Given the description of an element on the screen output the (x, y) to click on. 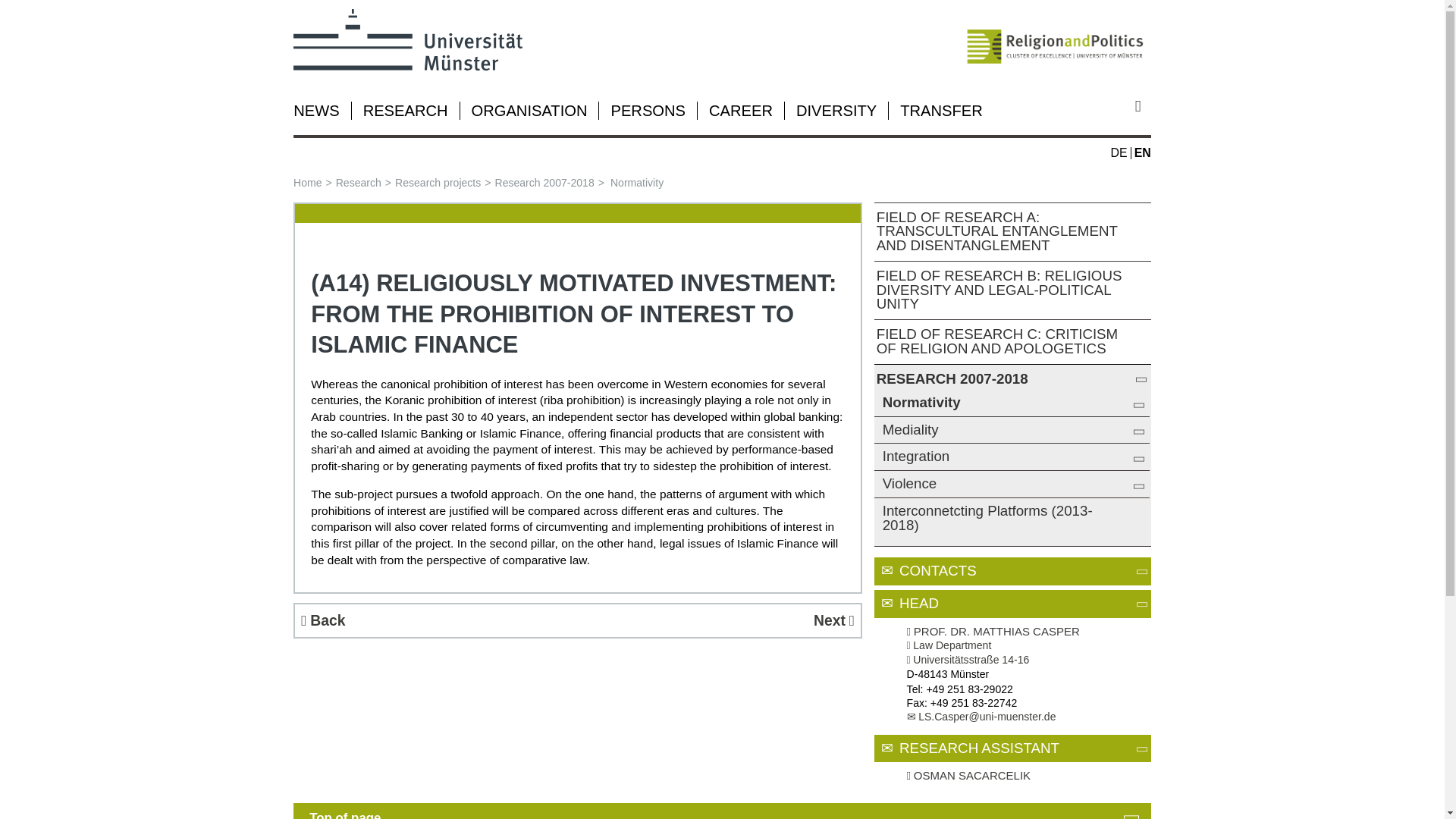
ORGANISATION (529, 110)
Telefon (913, 689)
Cluster of Excellence  (1055, 39)
::A15 - Inter Faith Relations (719, 620)
NEWS (316, 110)
Go (1143, 106)
RESEARCH (405, 110)
Deutsch (1118, 152)
Go (1143, 106)
Go (1143, 106)
English (1142, 152)
